Given the description of an element on the screen output the (x, y) to click on. 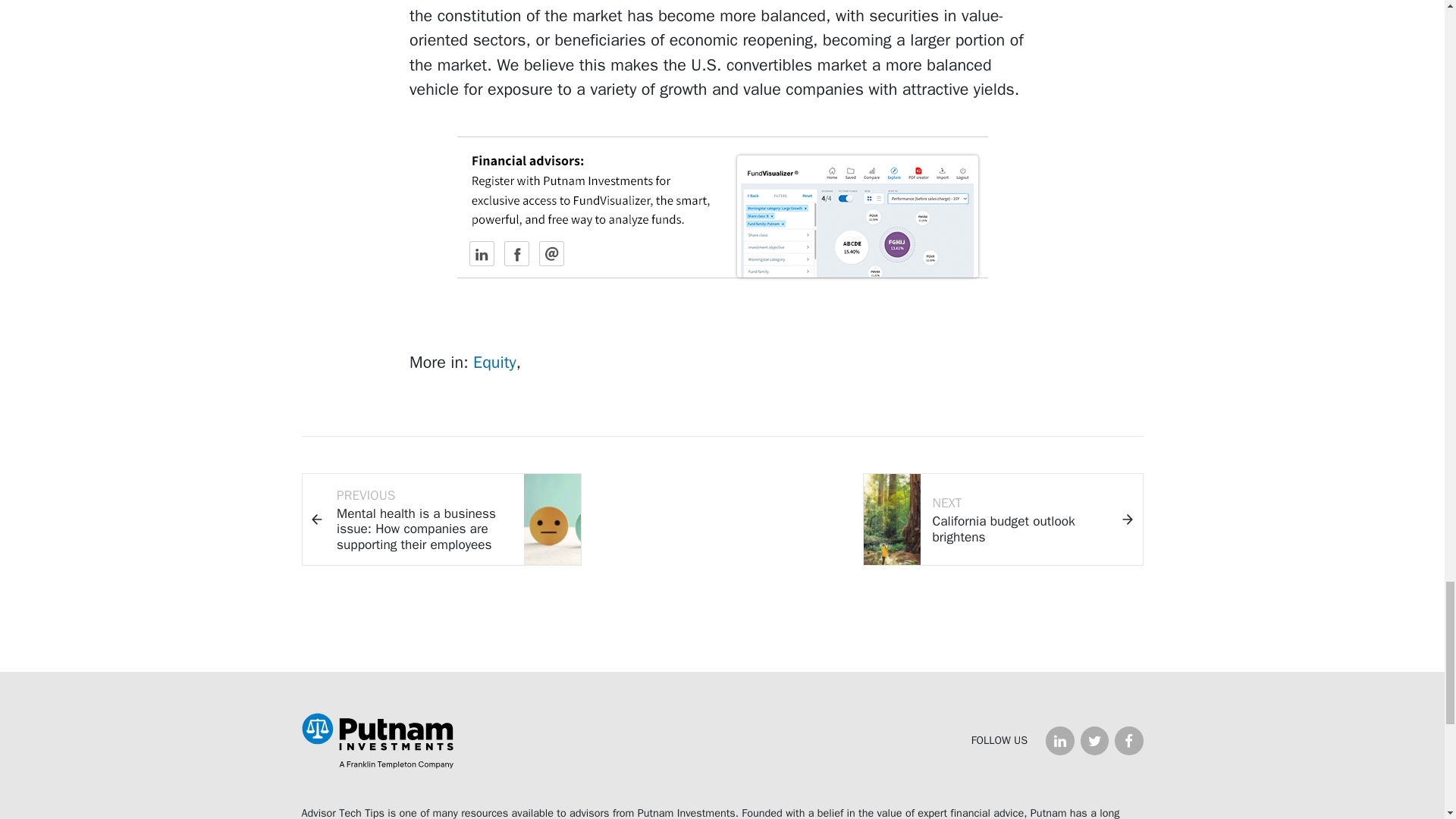
on Twitter (1094, 740)
Equity (494, 362)
on LinkedIn (1059, 740)
on Facebook (1128, 740)
